Given the description of an element on the screen output the (x, y) to click on. 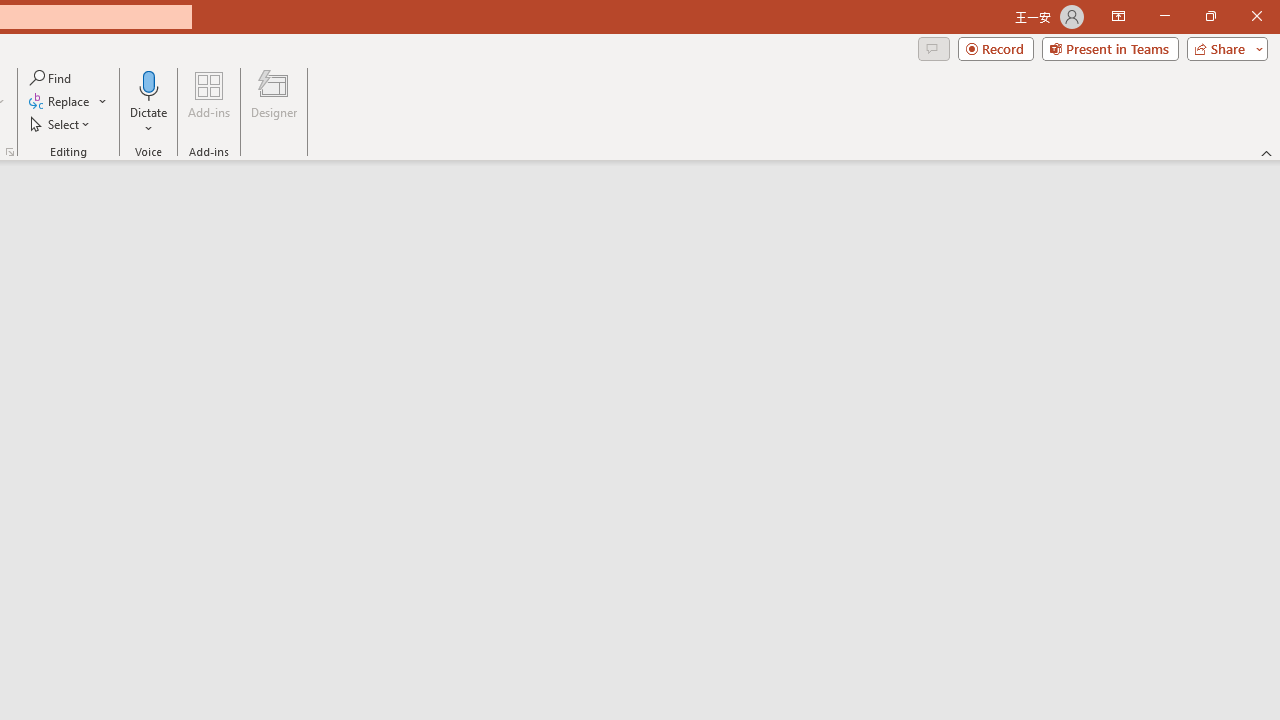
More Options (149, 121)
Record (995, 48)
Present in Teams (1109, 48)
Dictate (149, 84)
Designer (274, 102)
